Given the description of an element on the screen output the (x, y) to click on. 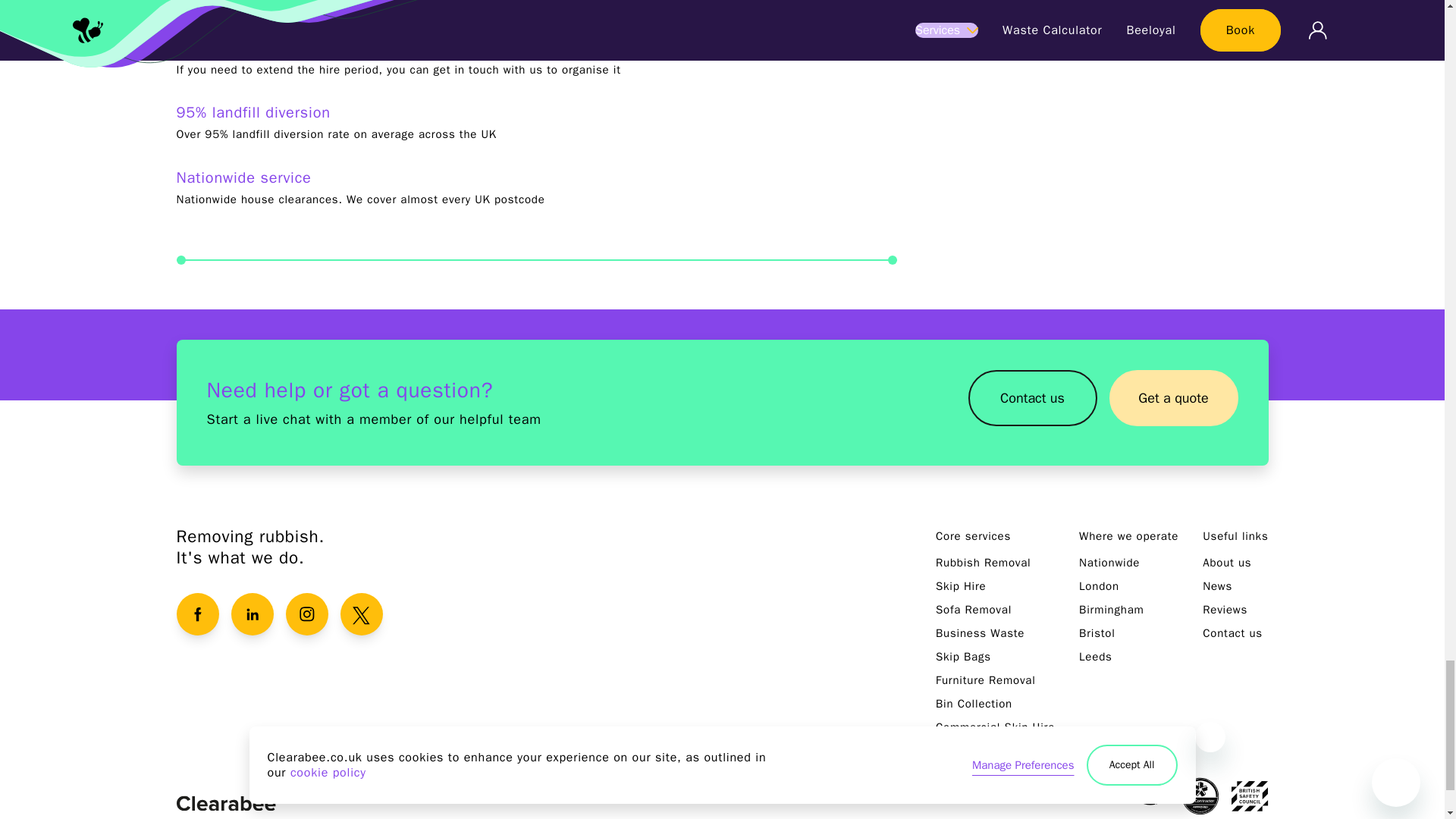
News (1216, 585)
Sofa Removal (973, 609)
Contact us (1032, 402)
Skip Bags (963, 656)
Business Waste (980, 632)
Leeds (1095, 656)
Nationwide (1109, 562)
Rubbish Removal (983, 562)
Contact us (1032, 397)
Furniture Removal (985, 680)
